Given the description of an element on the screen output the (x, y) to click on. 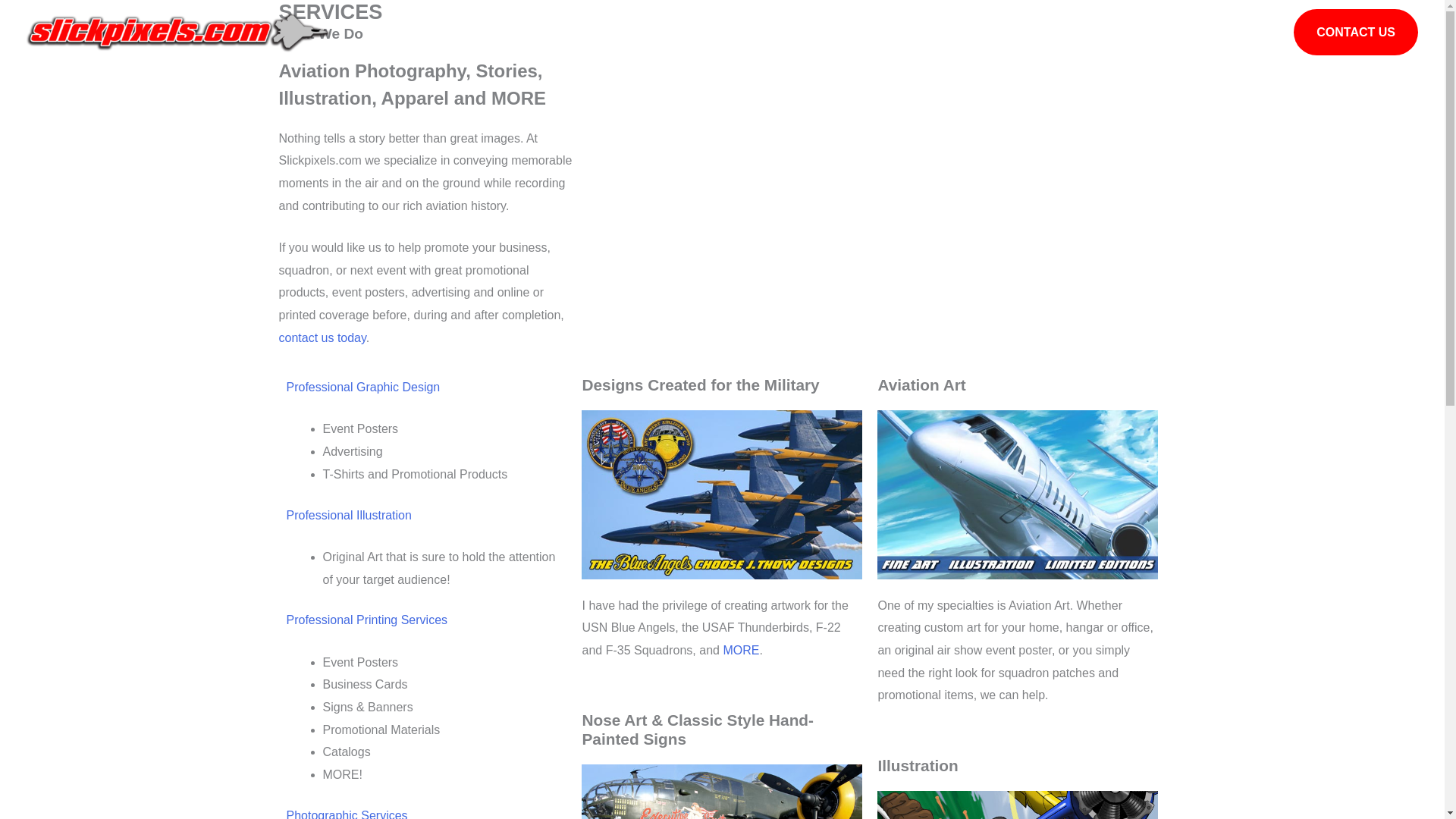
CONTACT US (1356, 32)
Professional Printing Services (367, 619)
Photographic Services (346, 814)
Professional Graphic Design (363, 386)
MORE (740, 649)
Professional Illustration (349, 514)
Home (1051, 31)
About (1107, 31)
Services (1171, 31)
contact us today (322, 337)
Features (1242, 31)
